Given the description of an element on the screen output the (x, y) to click on. 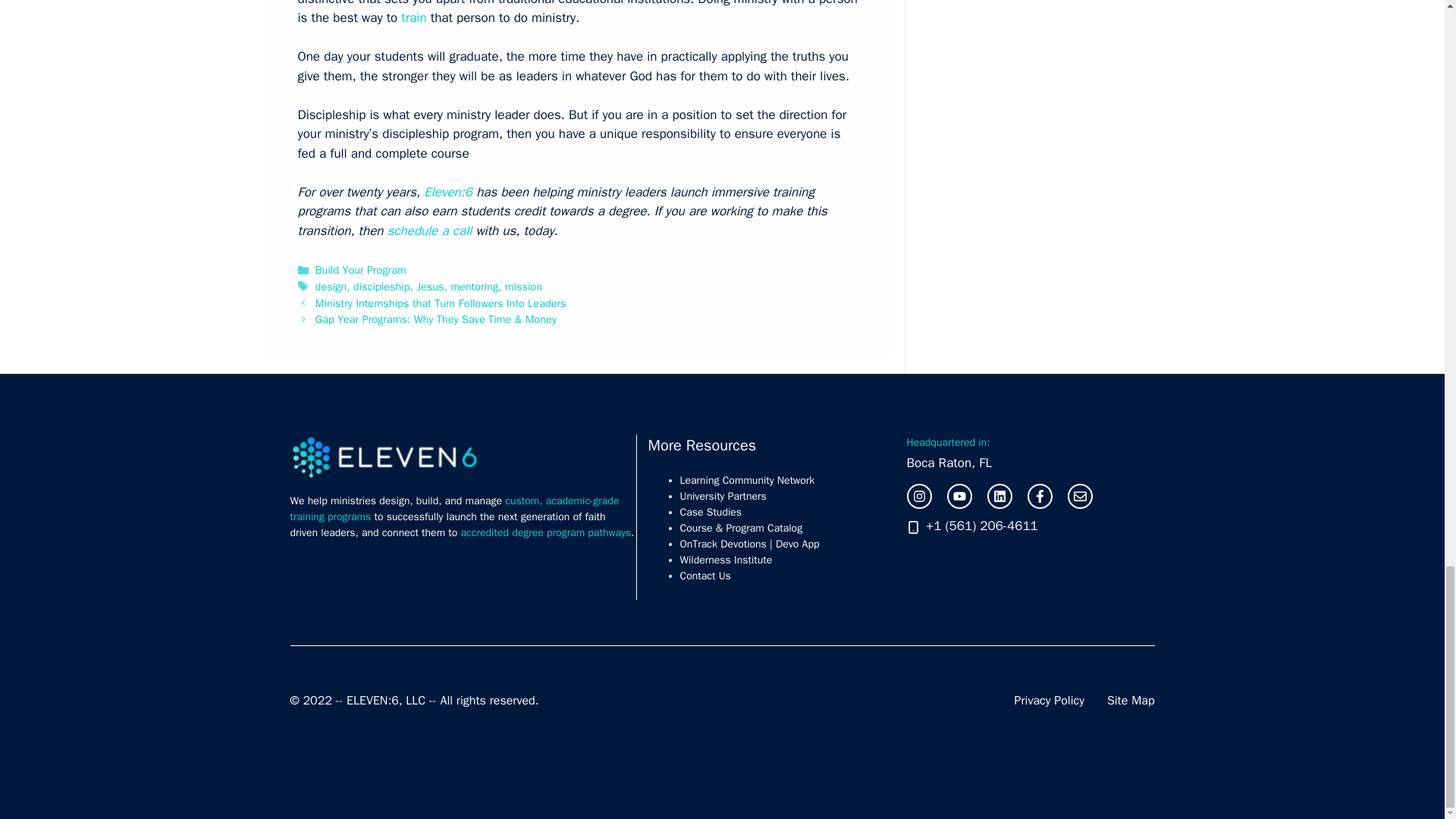
mentoring (473, 286)
mission (523, 286)
Build Your Program (360, 269)
Ministry Internships that Turn Followers Into Leaders (440, 303)
Eleven:6 (449, 191)
discipleship (381, 286)
Jesus (430, 286)
schedule a call (431, 230)
train (413, 17)
design (331, 286)
